Given the description of an element on the screen output the (x, y) to click on. 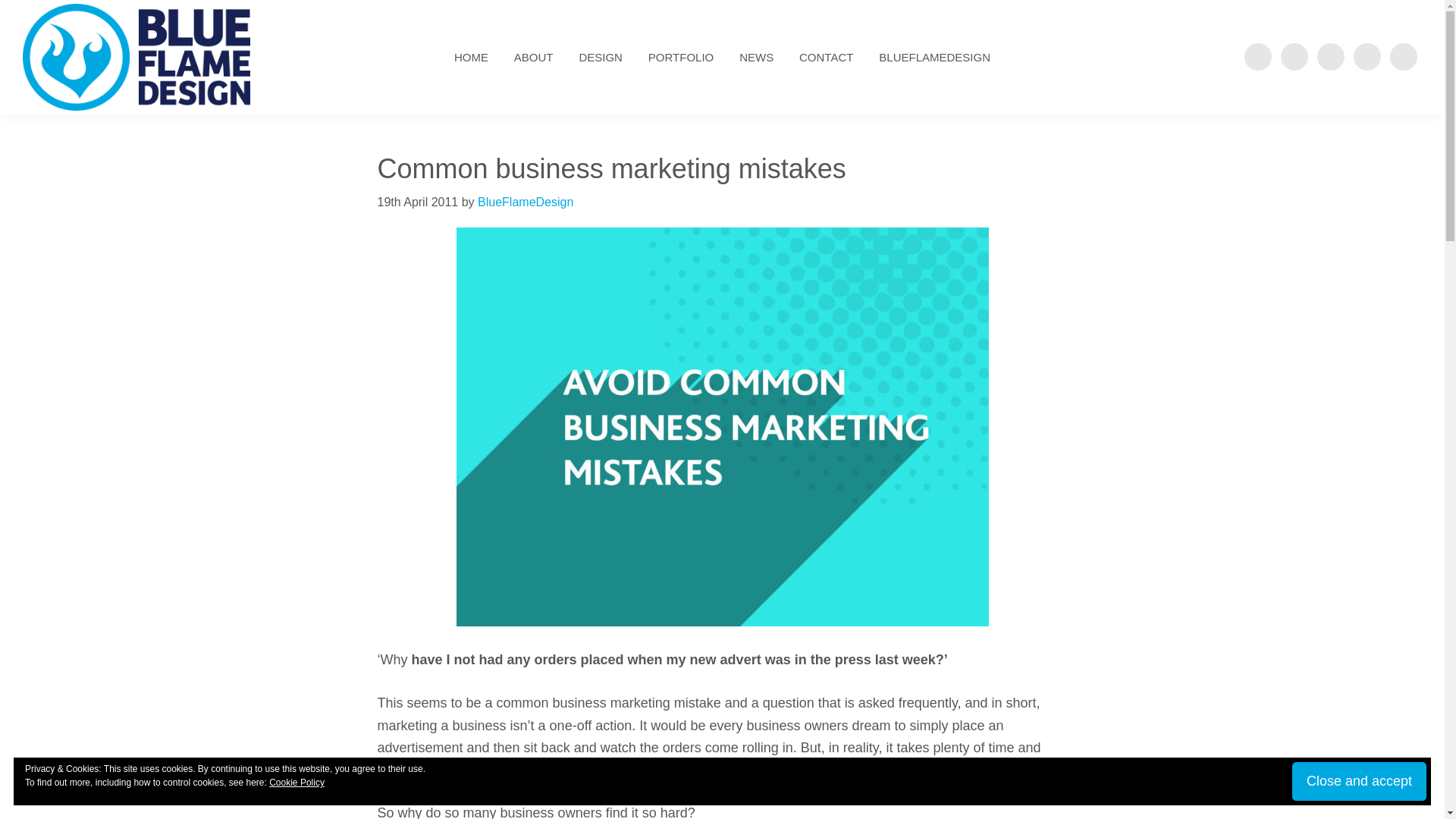
CONTACT (825, 57)
DESIGN (600, 57)
Close and accept (1359, 781)
BlueFlameDesign (525, 201)
BLUEFLAMEDESIGN (934, 57)
ABOUT (533, 57)
HOME (470, 57)
NEWS (756, 57)
PORTFOLIO (681, 57)
